Given the description of an element on the screen output the (x, y) to click on. 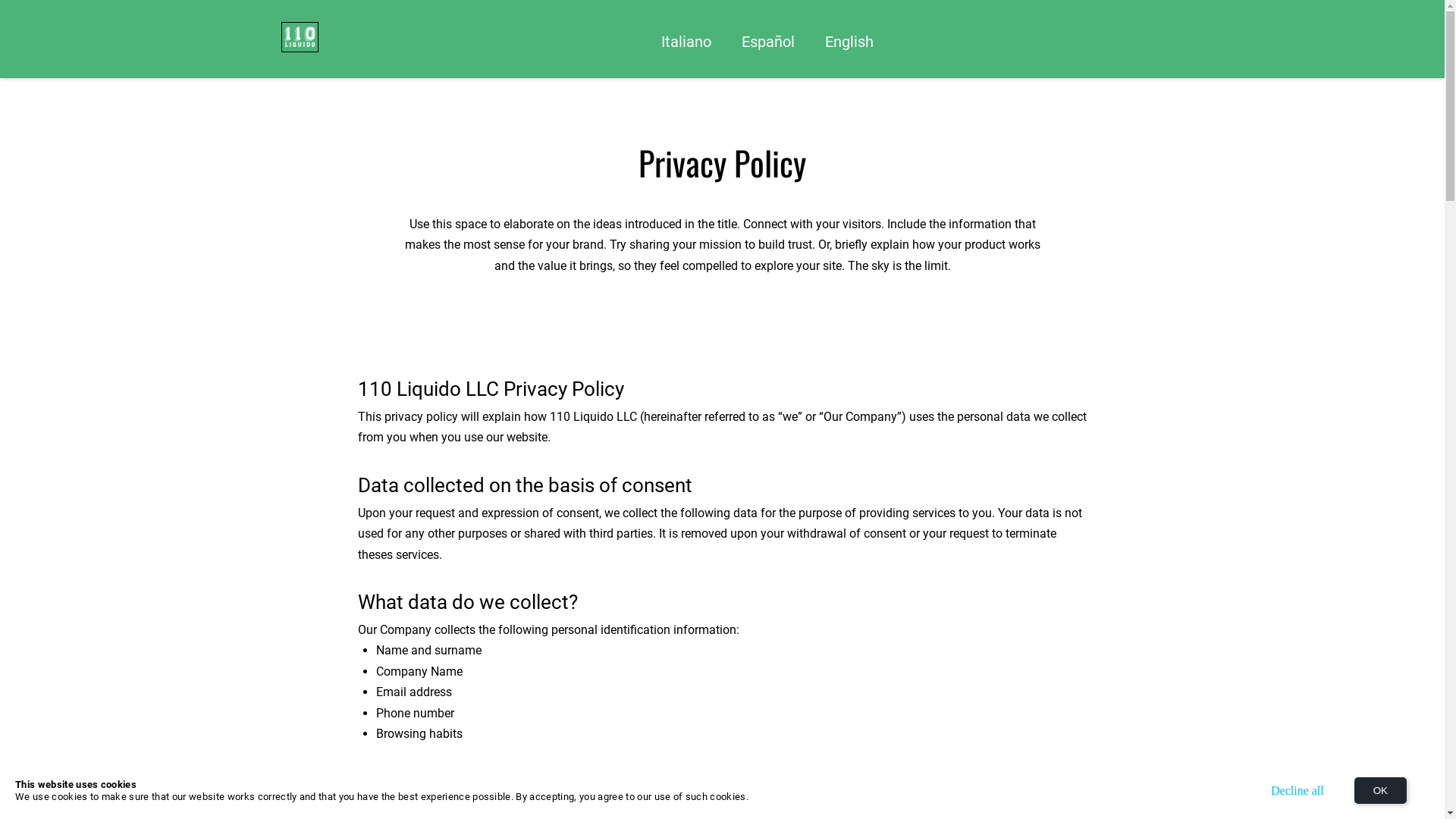
OK Element type: text (1380, 790)
English Element type: text (848, 42)
Italiano Element type: text (686, 42)
Decline all Element type: text (1297, 790)
